Given the description of an element on the screen output the (x, y) to click on. 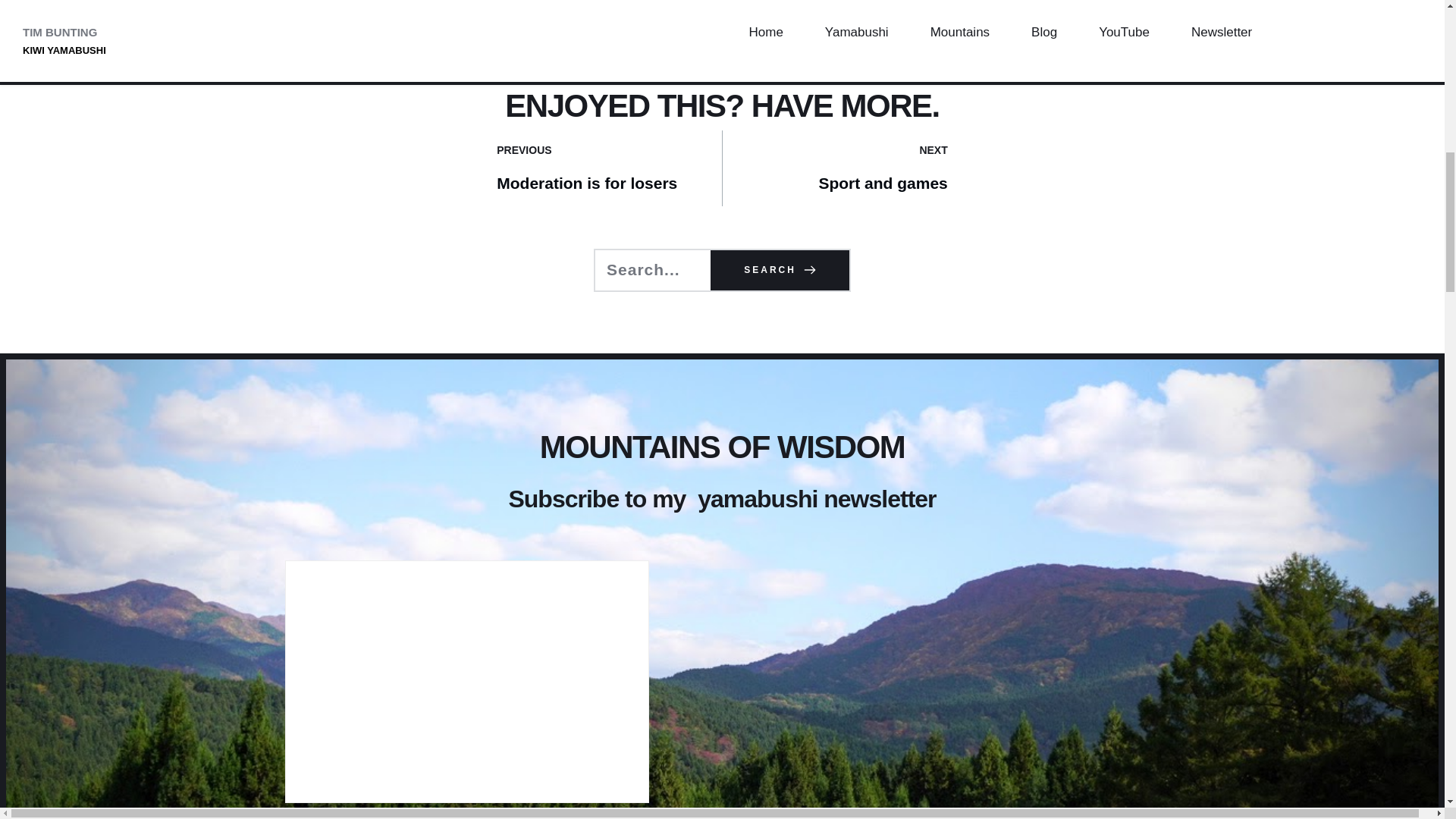
Sport and games (882, 183)
SEARCH (779, 270)
Moderation is for losers (586, 183)
